Given the description of an element on the screen output the (x, y) to click on. 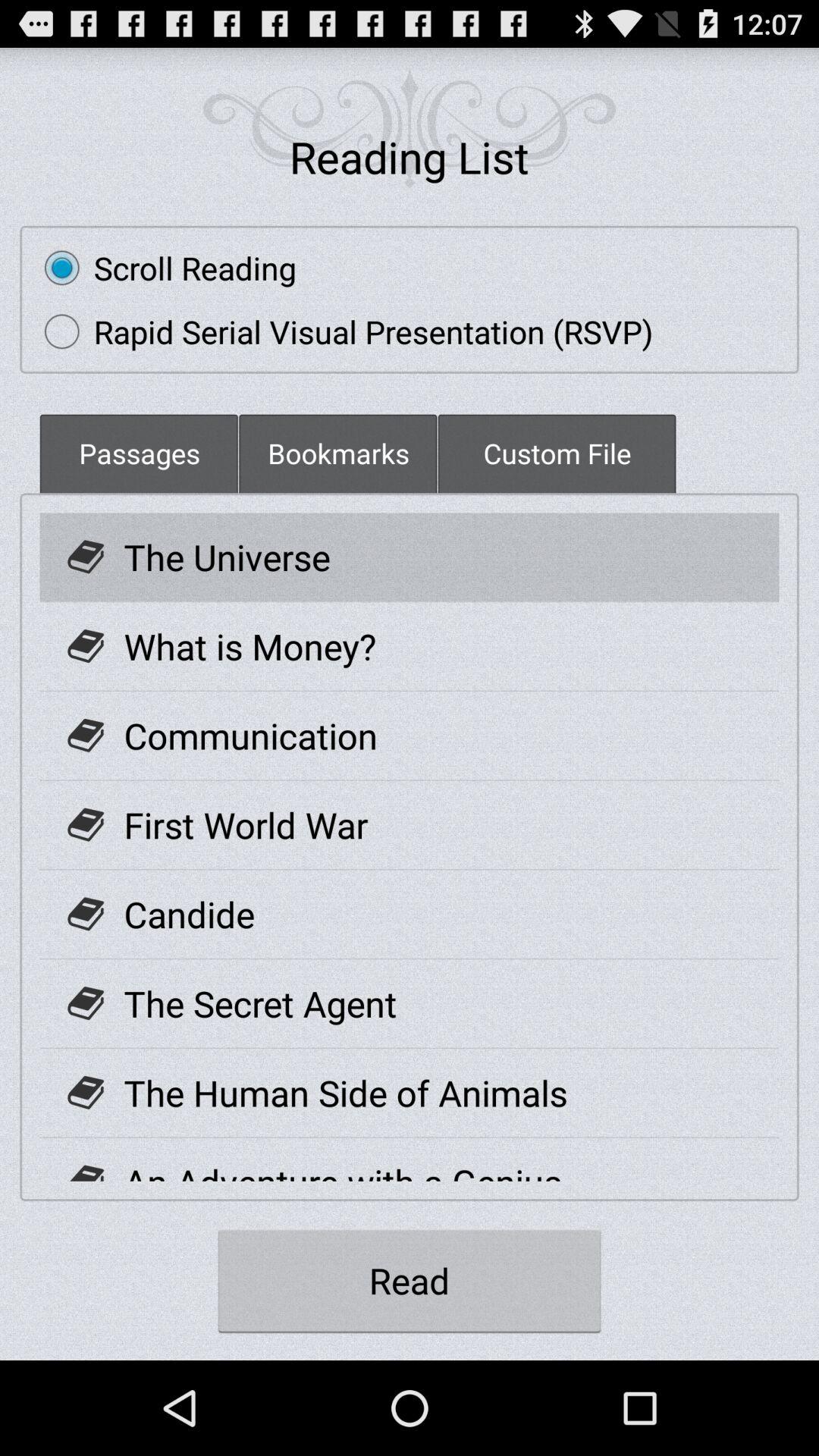
flip until the rapid serial visual (341, 331)
